Given the description of an element on the screen output the (x, y) to click on. 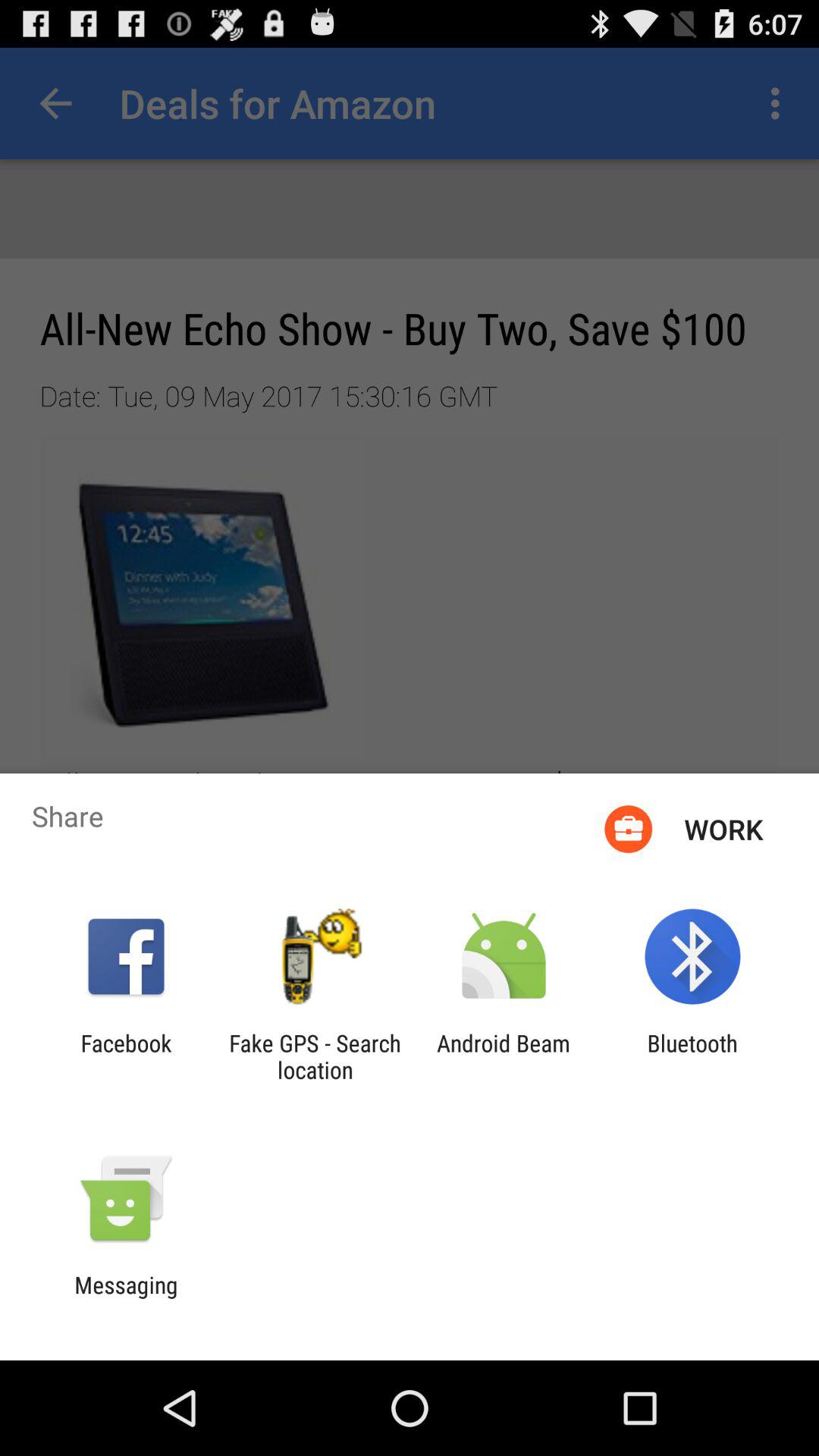
turn off item to the right of the fake gps search (503, 1056)
